Given the description of an element on the screen output the (x, y) to click on. 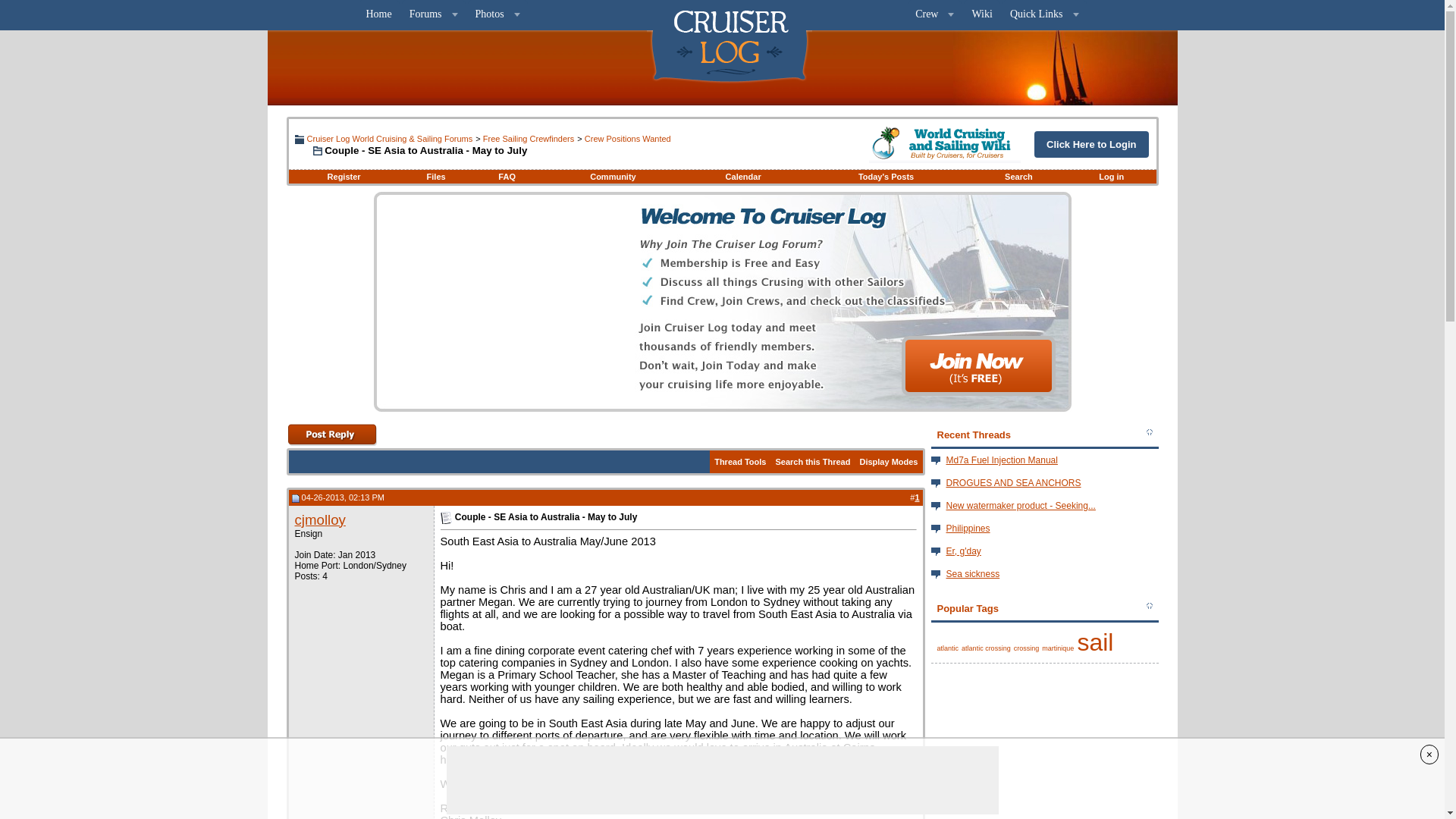
Free Sailing Crewfinders (528, 138)
Crew Positions Wanted (628, 138)
Go Back (298, 139)
Wiki (981, 14)
Cruiser Wiki (944, 143)
Default (445, 517)
Reply (331, 434)
Home (378, 14)
Old (294, 498)
Photos (497, 14)
Join Cruiser Log Today (979, 365)
Reload this Page (307, 150)
Crew (934, 14)
Quick Links (1044, 14)
Forums (433, 14)
